Given the description of an element on the screen output the (x, y) to click on. 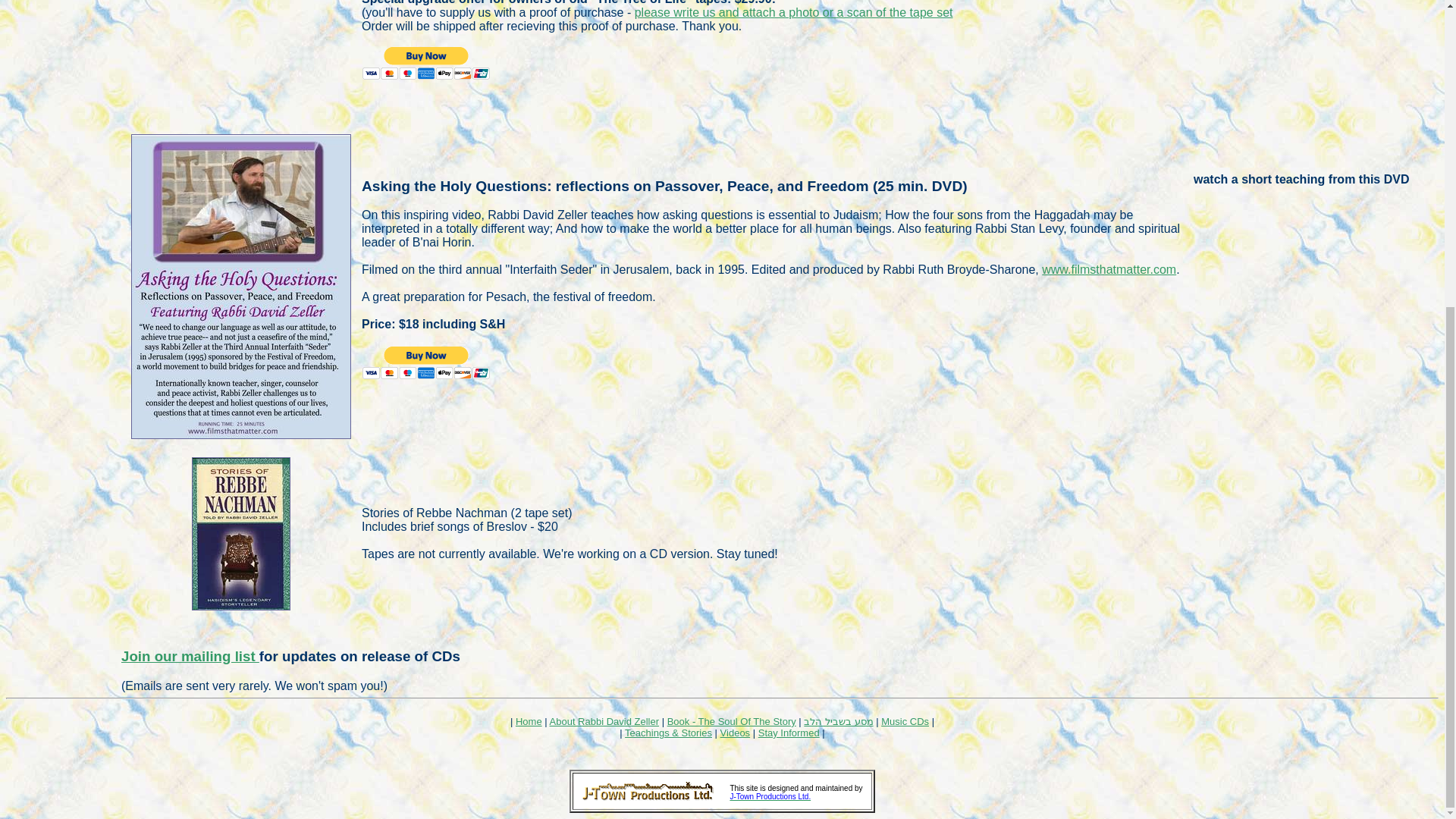
Videos (735, 732)
Stay Informed (788, 732)
About Rabbi David Zeller (604, 721)
J-Town Productions Ltd. (769, 796)
Book - The Soul Of The Story (731, 721)
Home (528, 721)
www.filmsthatmatter.com (1109, 269)
Join our mailing list (189, 656)
Music CDs (904, 721)
please write us and attach a photo or a scan of the tape set (793, 11)
